Given the description of an element on the screen output the (x, y) to click on. 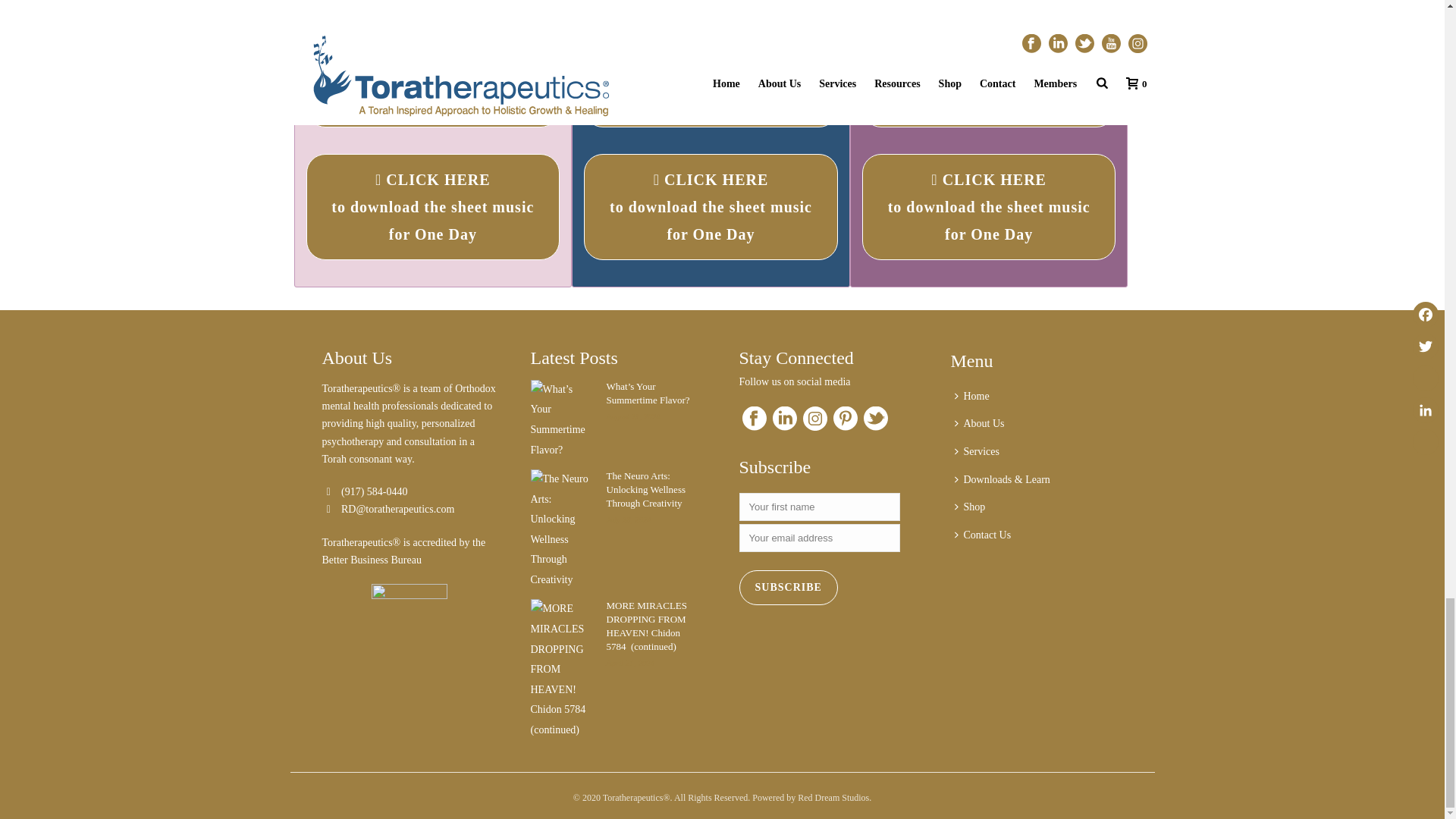
Page 1 (988, 5)
Page 1 (710, 5)
SUBSCRIBE (787, 587)
Page 1 (432, 5)
